Given the description of an element on the screen output the (x, y) to click on. 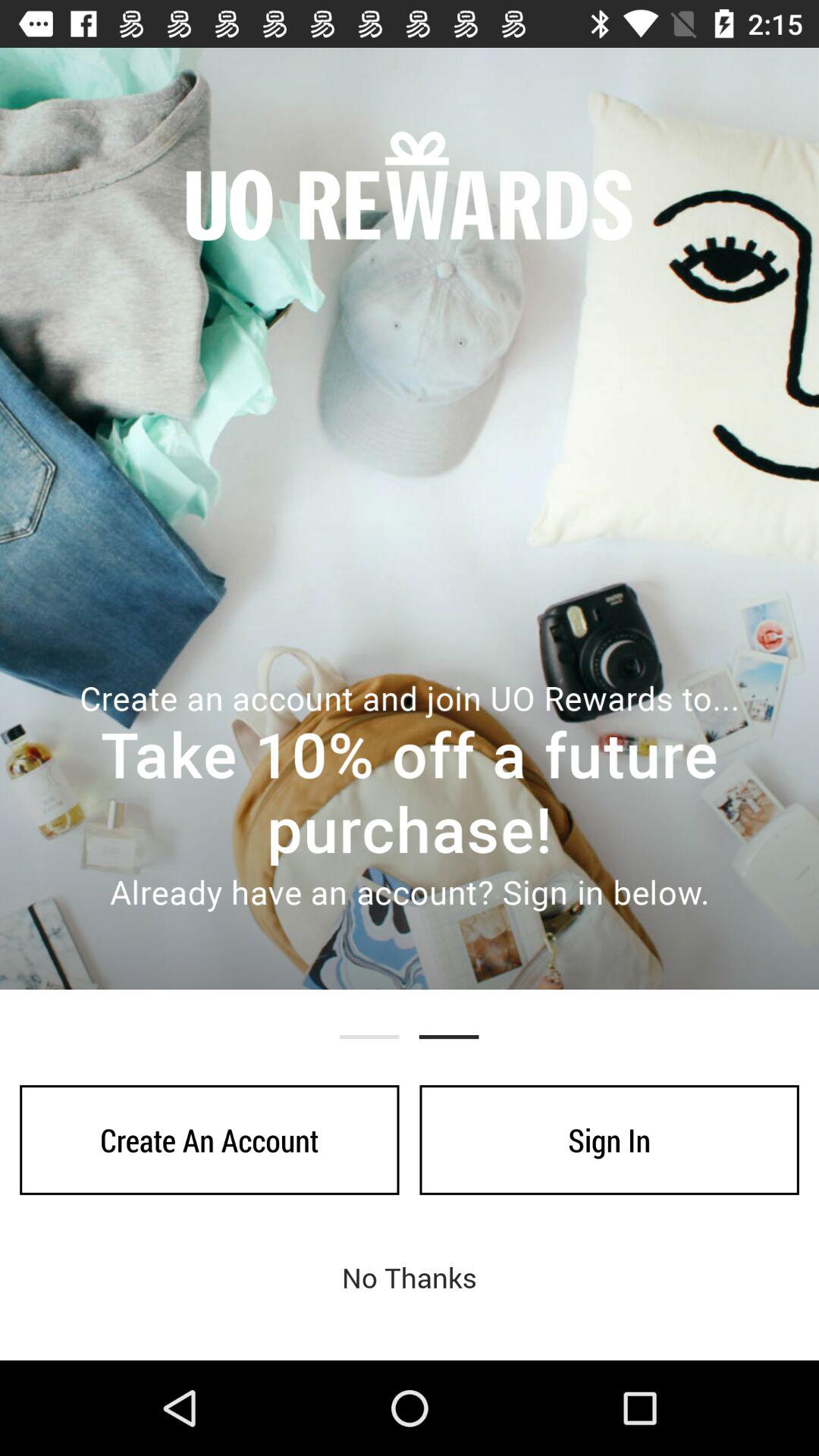
jump to the sign in (609, 1139)
